Given the description of an element on the screen output the (x, y) to click on. 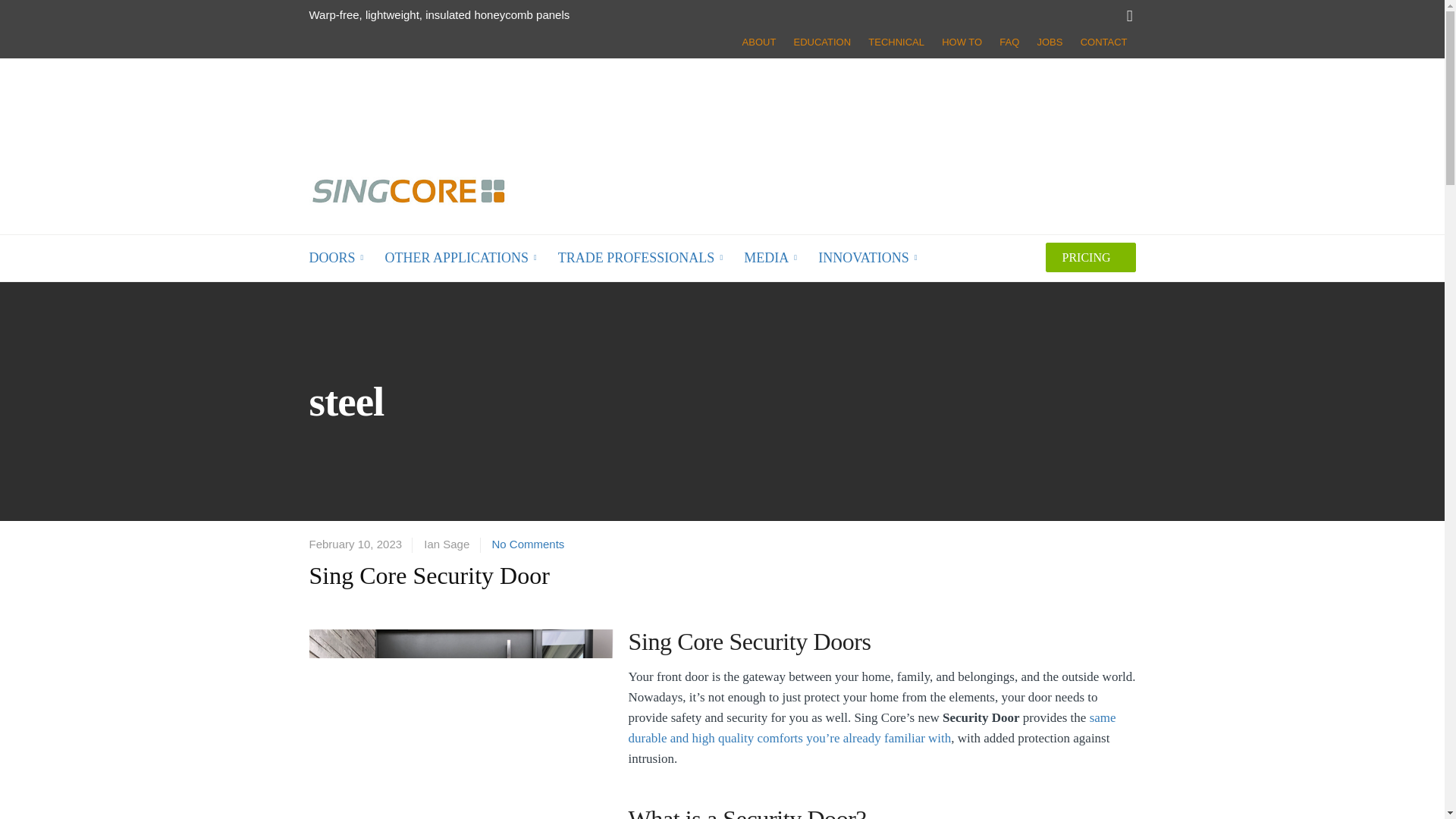
TECHNICAL (896, 41)
HOW TO (961, 41)
EDUCATION (823, 41)
CONTACT (1103, 41)
JOBS (1048, 41)
FAQ (1009, 41)
ABOUT (758, 41)
DOORS (336, 258)
